Given the description of an element on the screen output the (x, y) to click on. 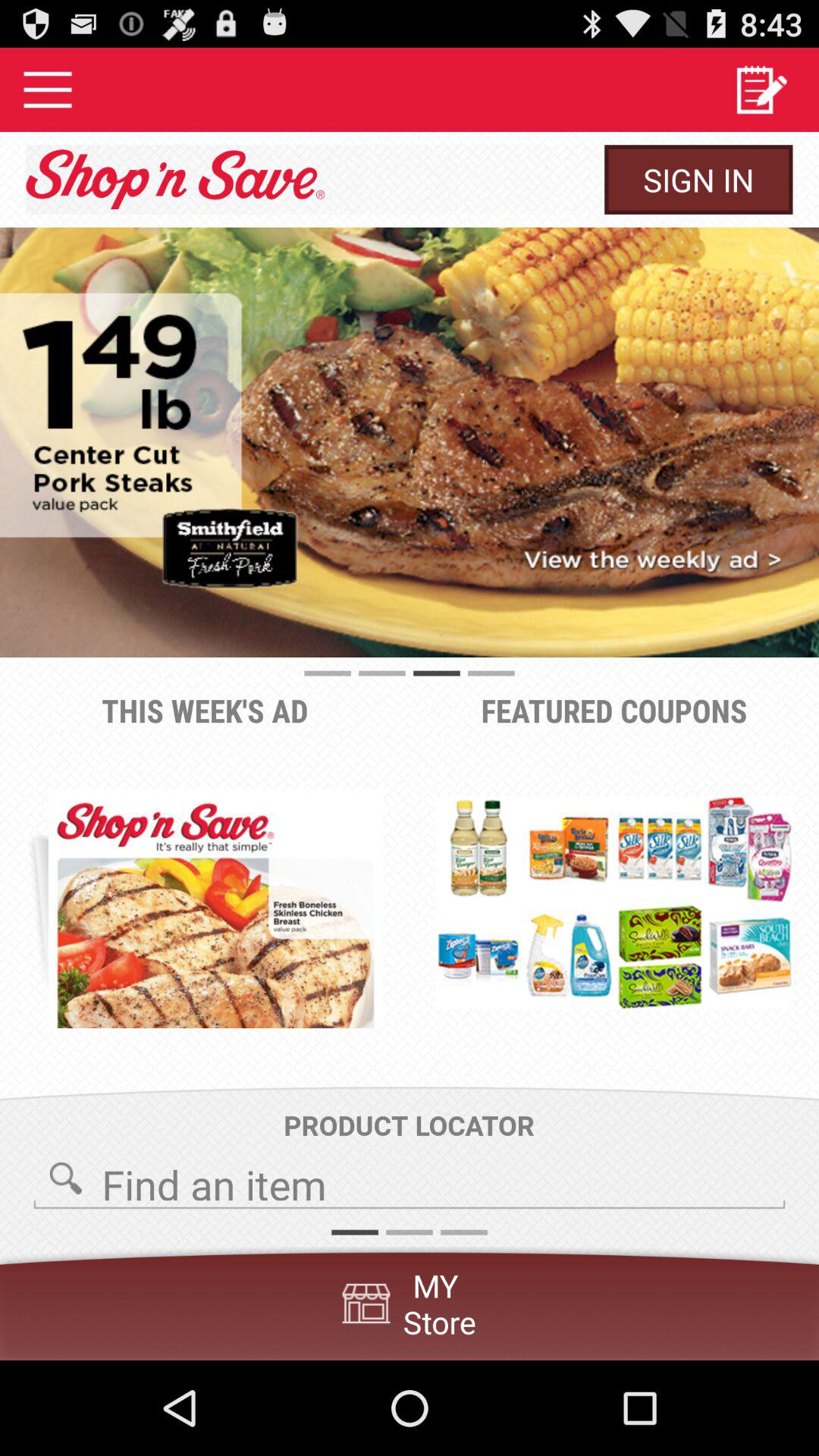
tap the item to the left of the featured coupons item (215, 908)
